Given the description of an element on the screen output the (x, y) to click on. 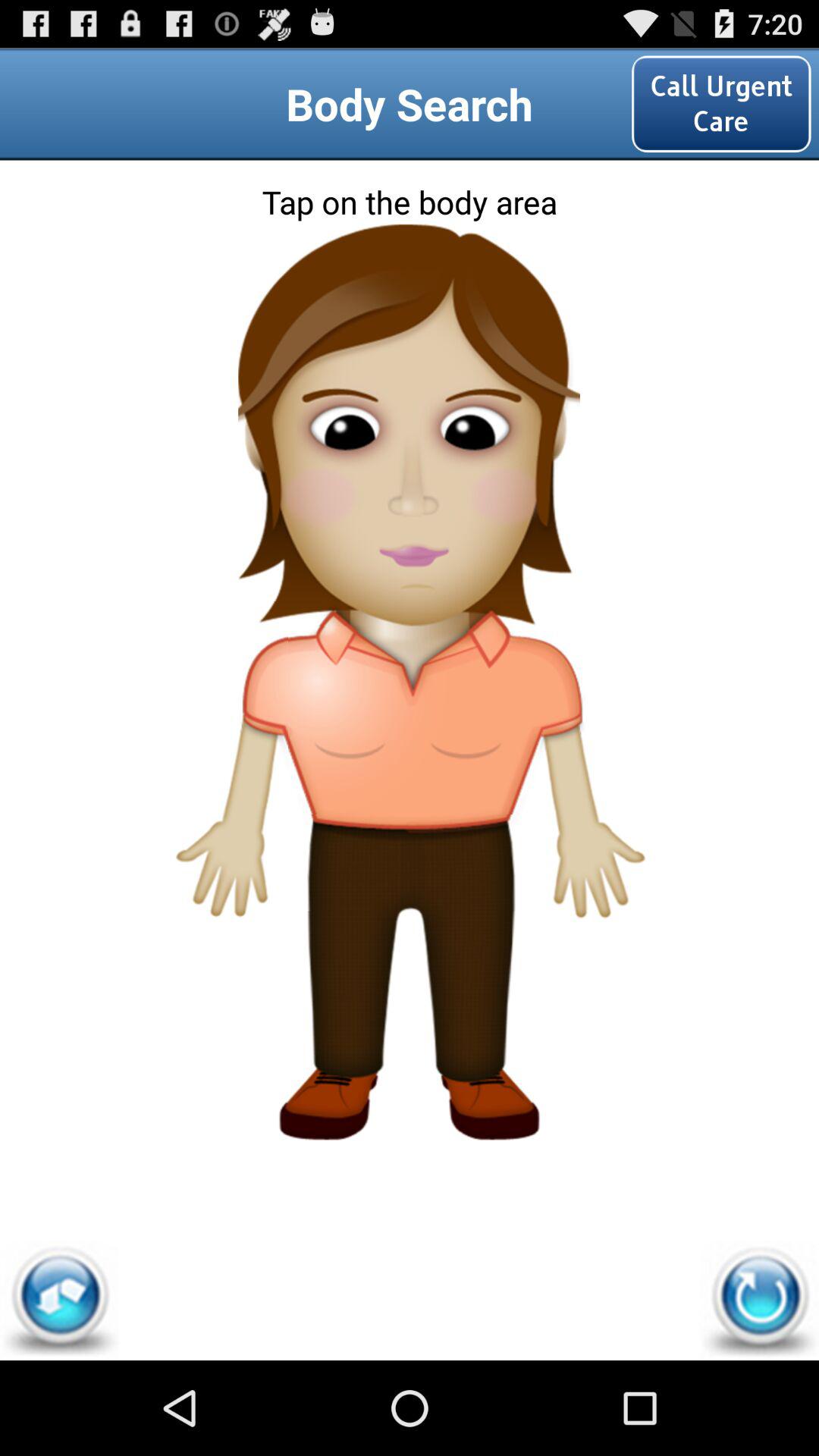
eye (409, 406)
